Given the description of an element on the screen output the (x, y) to click on. 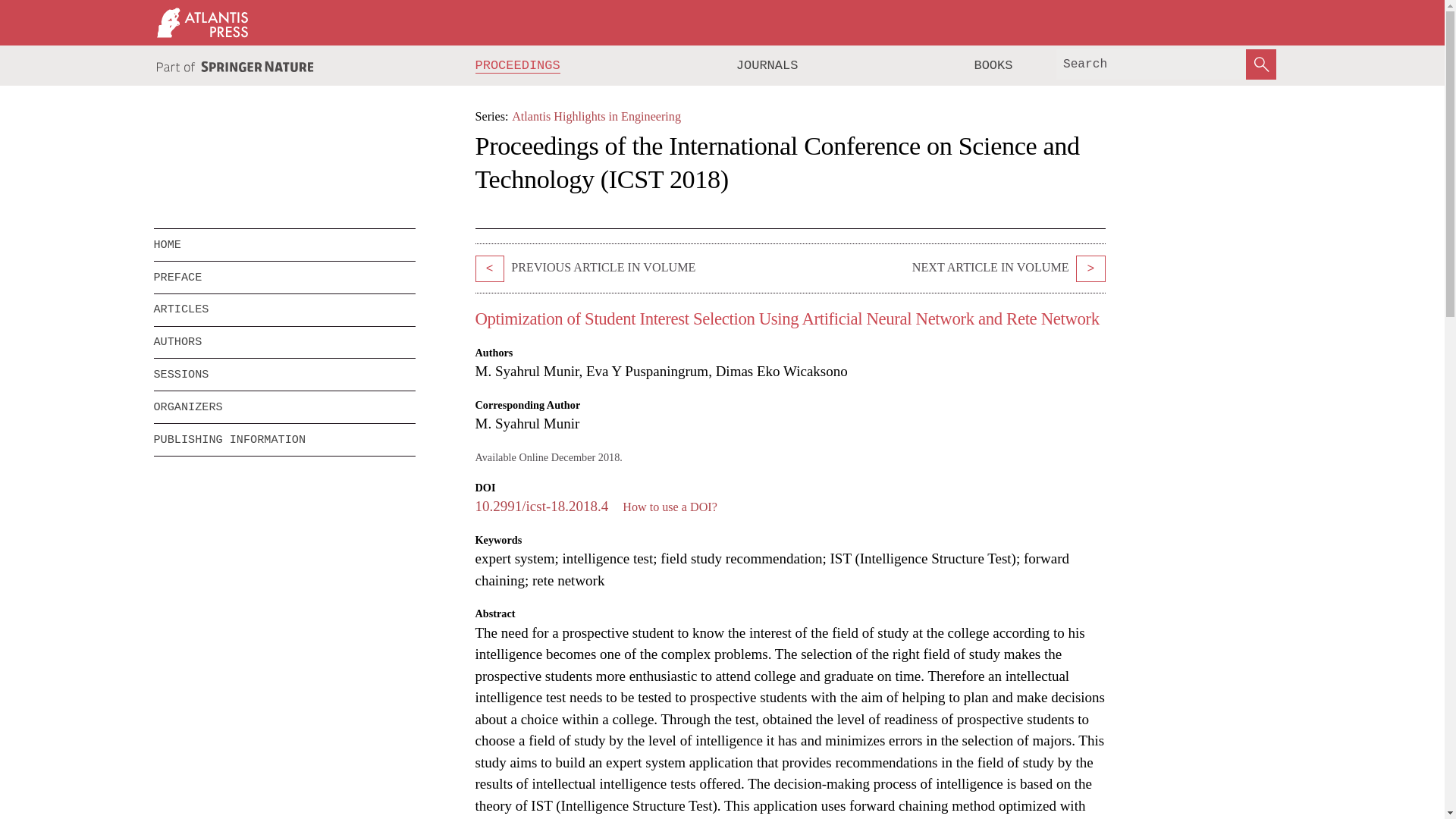
PUBLISHING INFORMATION (283, 439)
ORGANIZERS (283, 407)
BOOKS (992, 65)
SESSIONS (273, 374)
How to use a DOI? (670, 506)
AUTHORS (283, 342)
HOME (283, 245)
Atlantis Highlights in Engineering (596, 115)
PREFACE (283, 277)
